Given the description of an element on the screen output the (x, y) to click on. 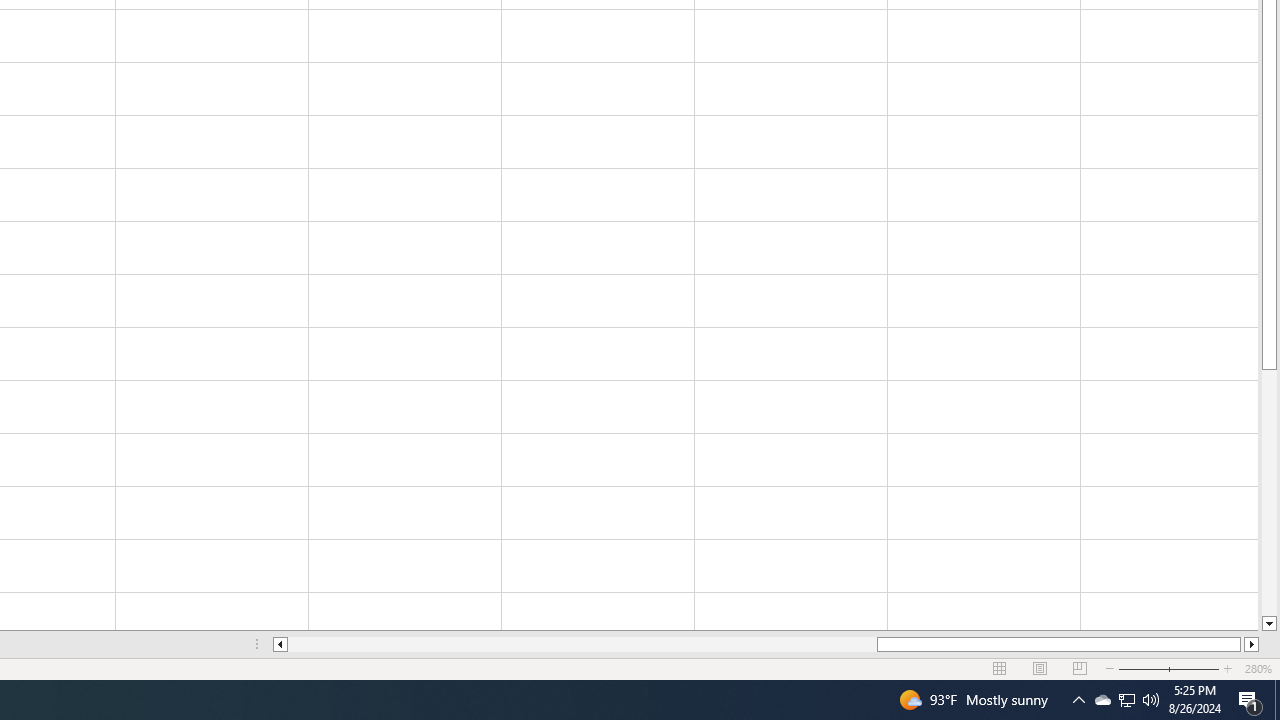
Page down (1268, 493)
Page left (582, 644)
